Given the description of an element on the screen output the (x, y) to click on. 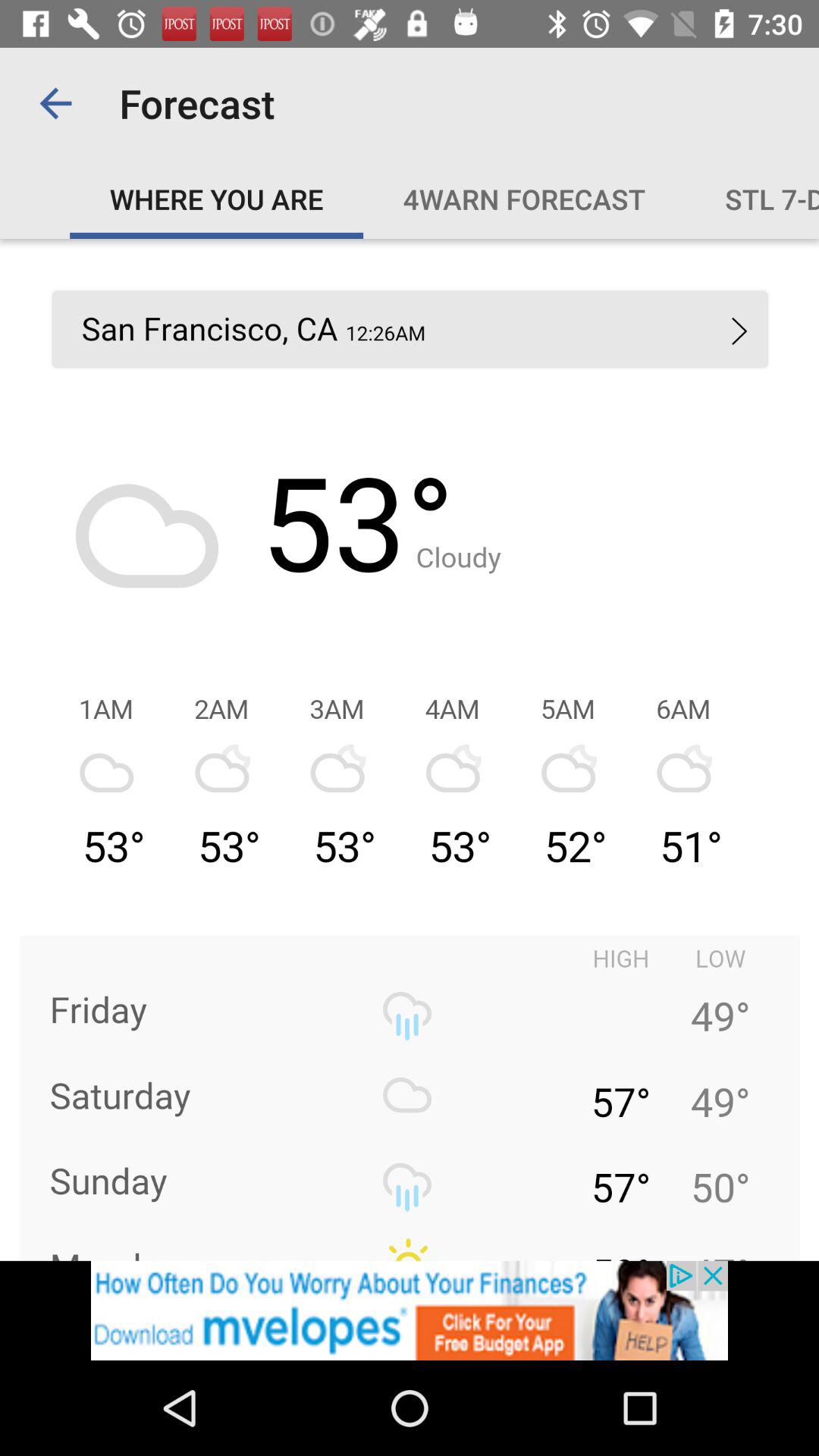
open advertisement (409, 1310)
